Given the description of an element on the screen output the (x, y) to click on. 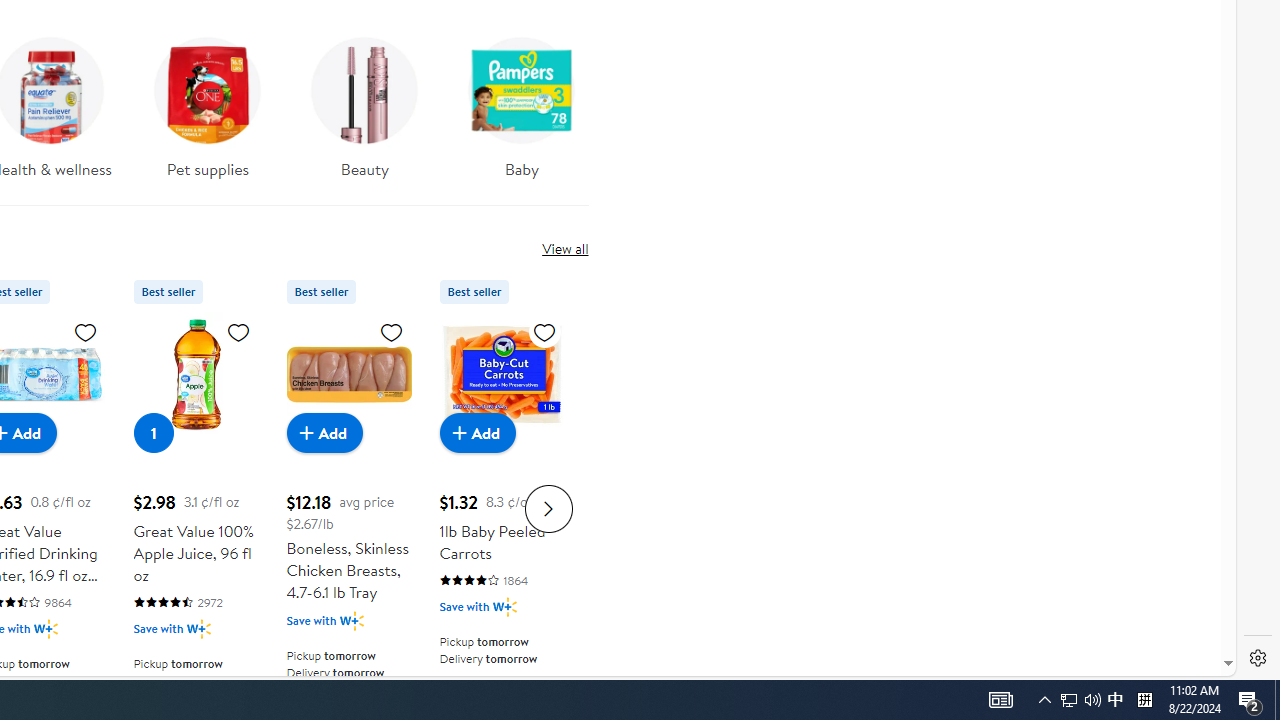
Boneless, Skinless Chicken Breasts, 4.7-6.1 lb Tray (348, 374)
Pet supplies (207, 101)
